Given the description of an element on the screen output the (x, y) to click on. 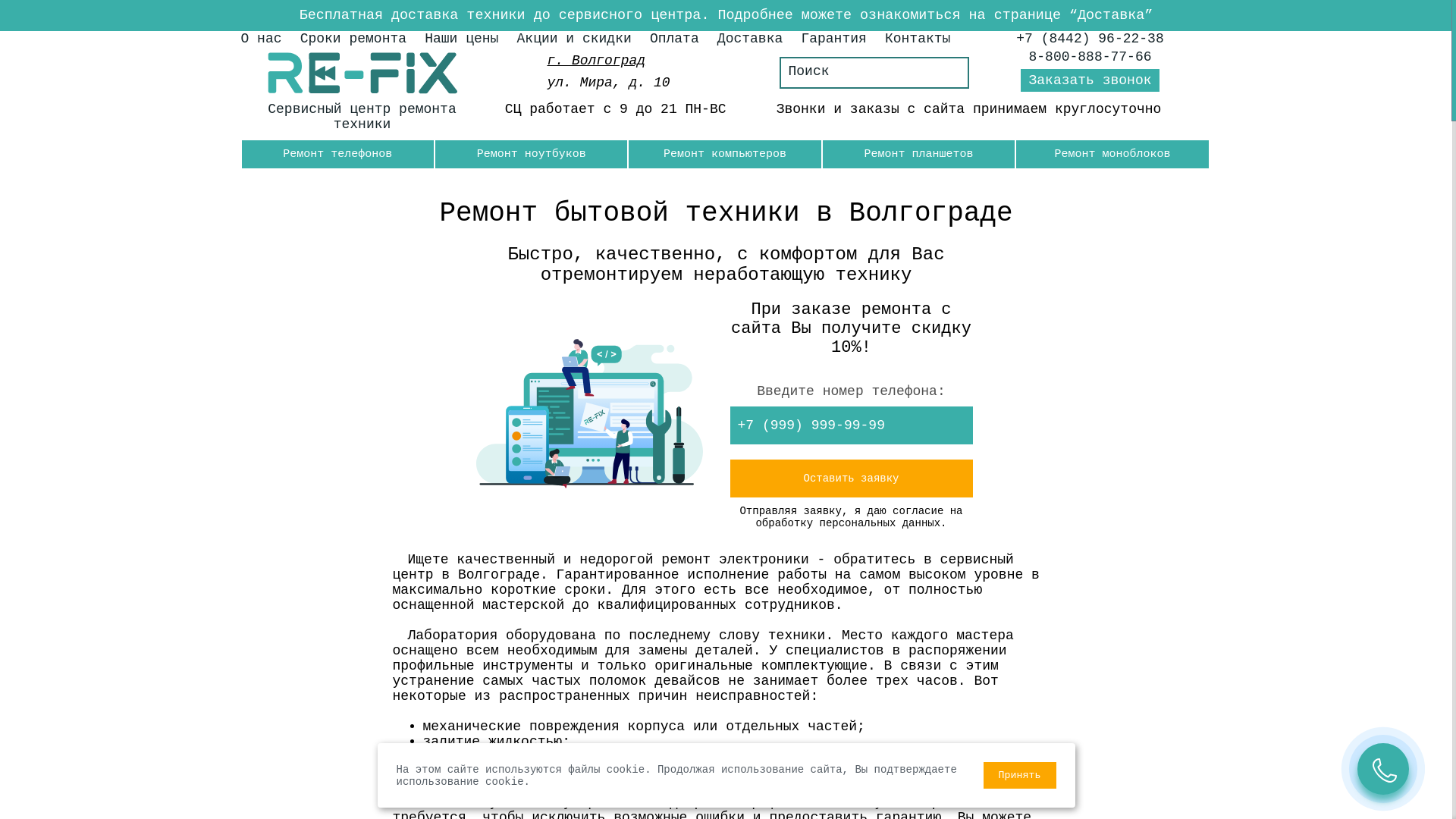
8-800-888-77-66 Element type: text (1090, 56)
+7 (8442) 96-22-38 Element type: text (1089, 38)
